Given the description of an element on the screen output the (x, y) to click on. 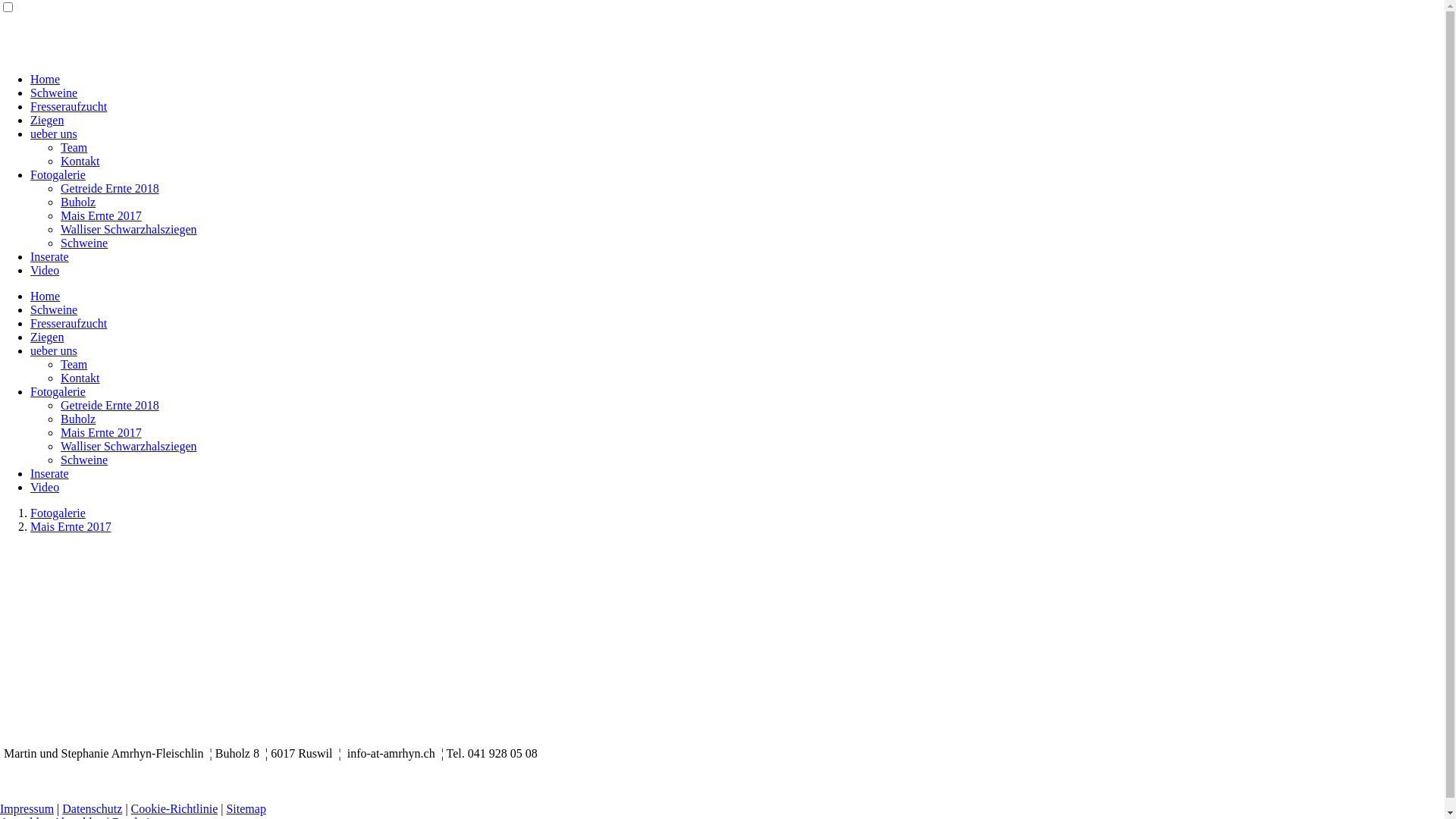
Home Element type: text (44, 295)
Schweine Element type: text (53, 309)
Kontakt Element type: text (80, 377)
Video Element type: text (44, 486)
Inserate Element type: text (49, 256)
ueber uns Element type: text (53, 350)
Inserate Element type: text (49, 473)
Mais Ernte 2017 Element type: text (100, 215)
Walliser Schwarzhalsziegen Element type: text (128, 445)
Getreide Ernte 2018 Element type: text (109, 188)
Fotogalerie Element type: text (57, 391)
Impressum Element type: text (26, 808)
Cookie-Richtlinie Element type: text (174, 808)
Fresseraufzucht Element type: text (68, 106)
Buholz Element type: text (77, 201)
ueber uns Element type: text (53, 133)
Datenschutz Element type: text (92, 808)
Mais Ernte 2017 Element type: text (100, 432)
Fotogalerie Element type: text (57, 174)
Ziegen Element type: text (46, 336)
Kontakt Element type: text (80, 160)
Fresseraufzucht Element type: text (68, 322)
Schweine Element type: text (53, 92)
Team Element type: text (73, 363)
Schweine Element type: text (83, 242)
Fotogalerie Element type: text (57, 512)
Getreide Ernte 2018 Element type: text (109, 404)
Video Element type: text (44, 269)
Buholz Element type: text (77, 418)
Team Element type: text (73, 147)
Walliser Schwarzhalsziegen Element type: text (128, 228)
Home Element type: text (44, 78)
Sitemap Element type: text (245, 808)
Schweine Element type: text (83, 459)
Ziegen Element type: text (46, 119)
Mais Ernte 2017 Element type: text (70, 526)
